Given the description of an element on the screen output the (x, y) to click on. 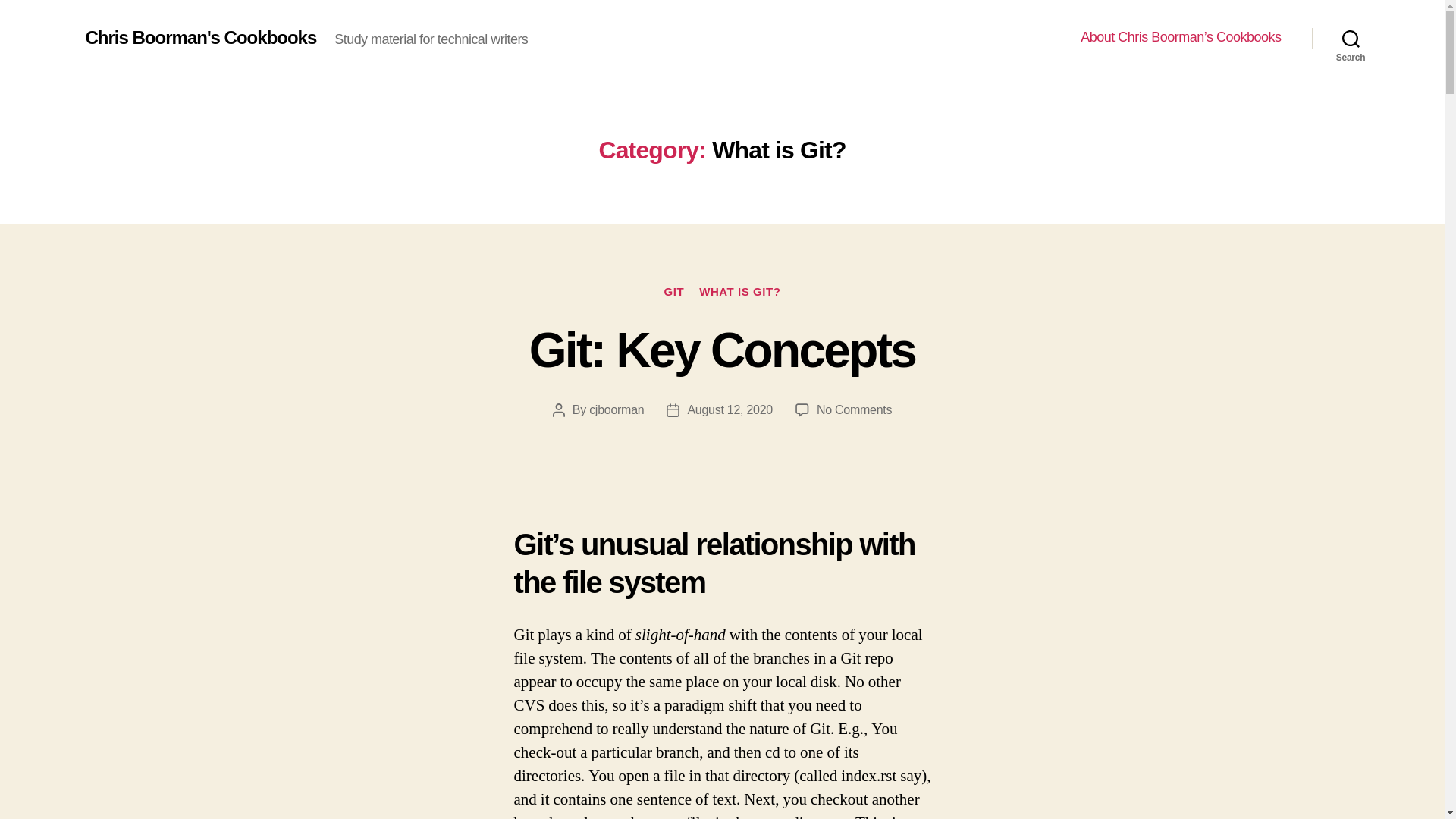
Search (1350, 37)
Chris Boorman's Cookbooks (199, 37)
GIT (673, 292)
Git: Key Concepts (722, 349)
WHAT IS GIT? (853, 409)
cjboorman (739, 292)
August 12, 2020 (616, 409)
